Given the description of an element on the screen output the (x, y) to click on. 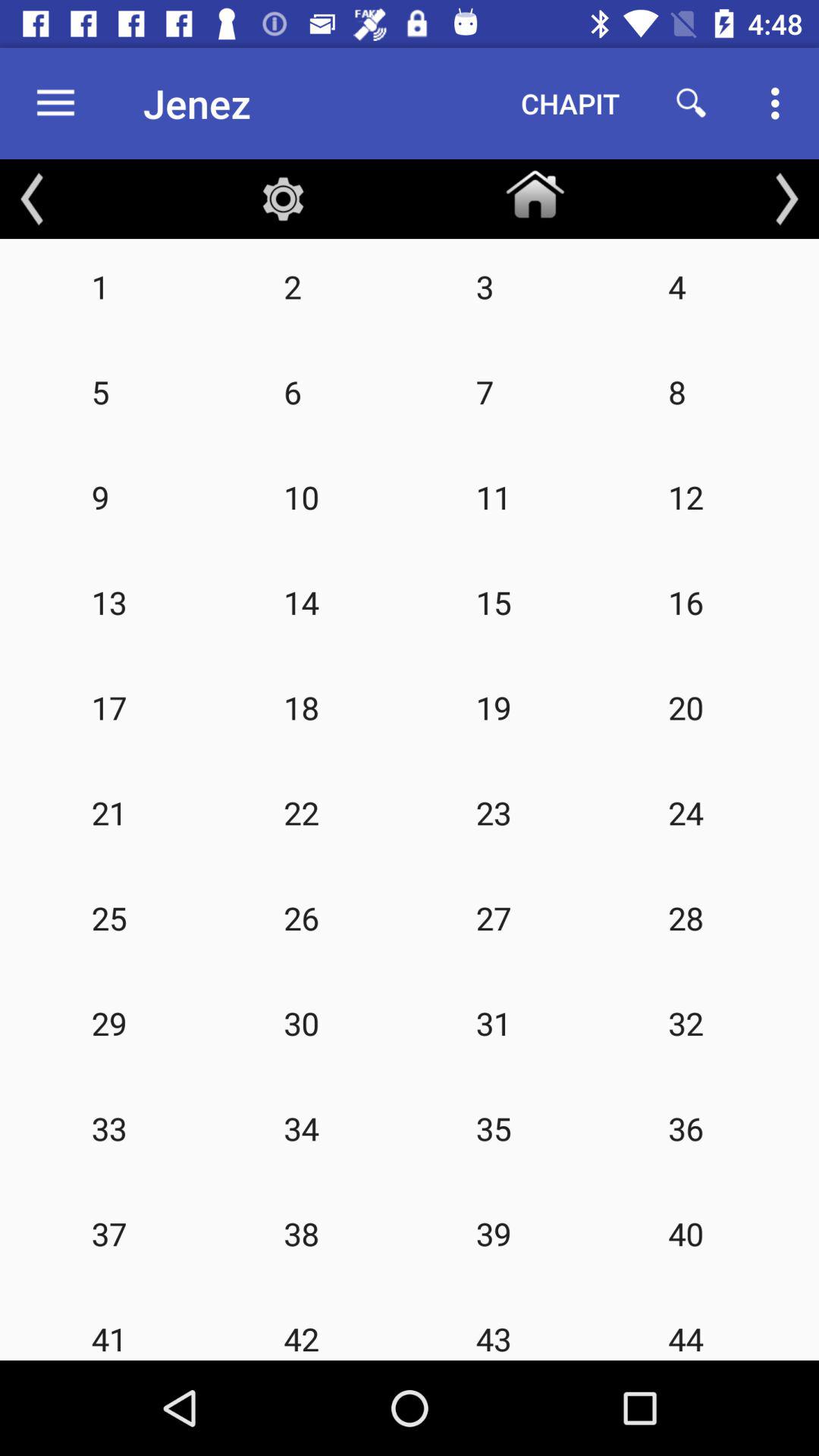
click on the option named as chapit (570, 103)
